Given the description of an element on the screen output the (x, y) to click on. 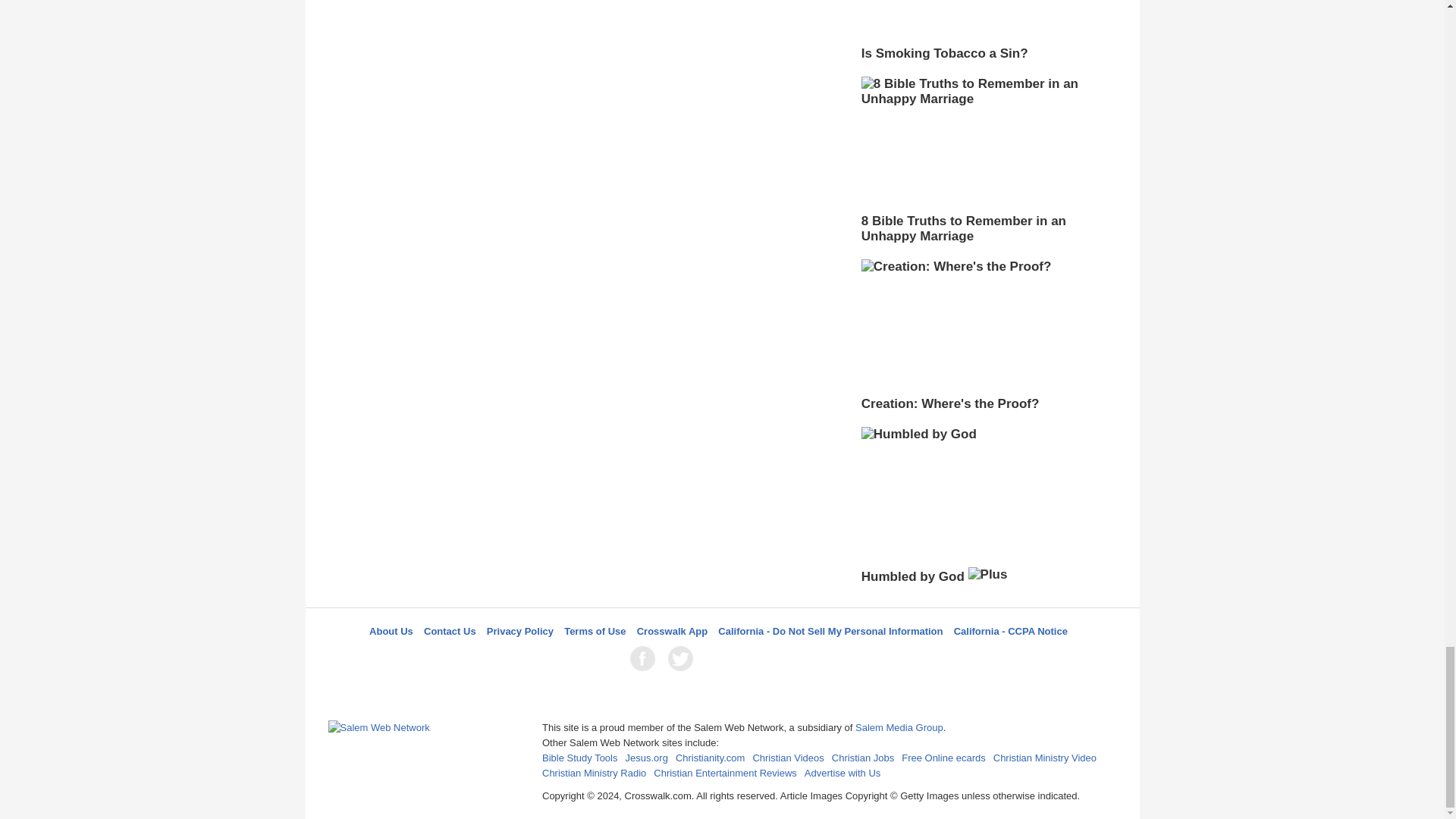
Pinterest (757, 658)
LifeAudio (719, 658)
YouTube (795, 658)
Twitter (683, 658)
Facebook (645, 658)
